Given the description of an element on the screen output the (x, y) to click on. 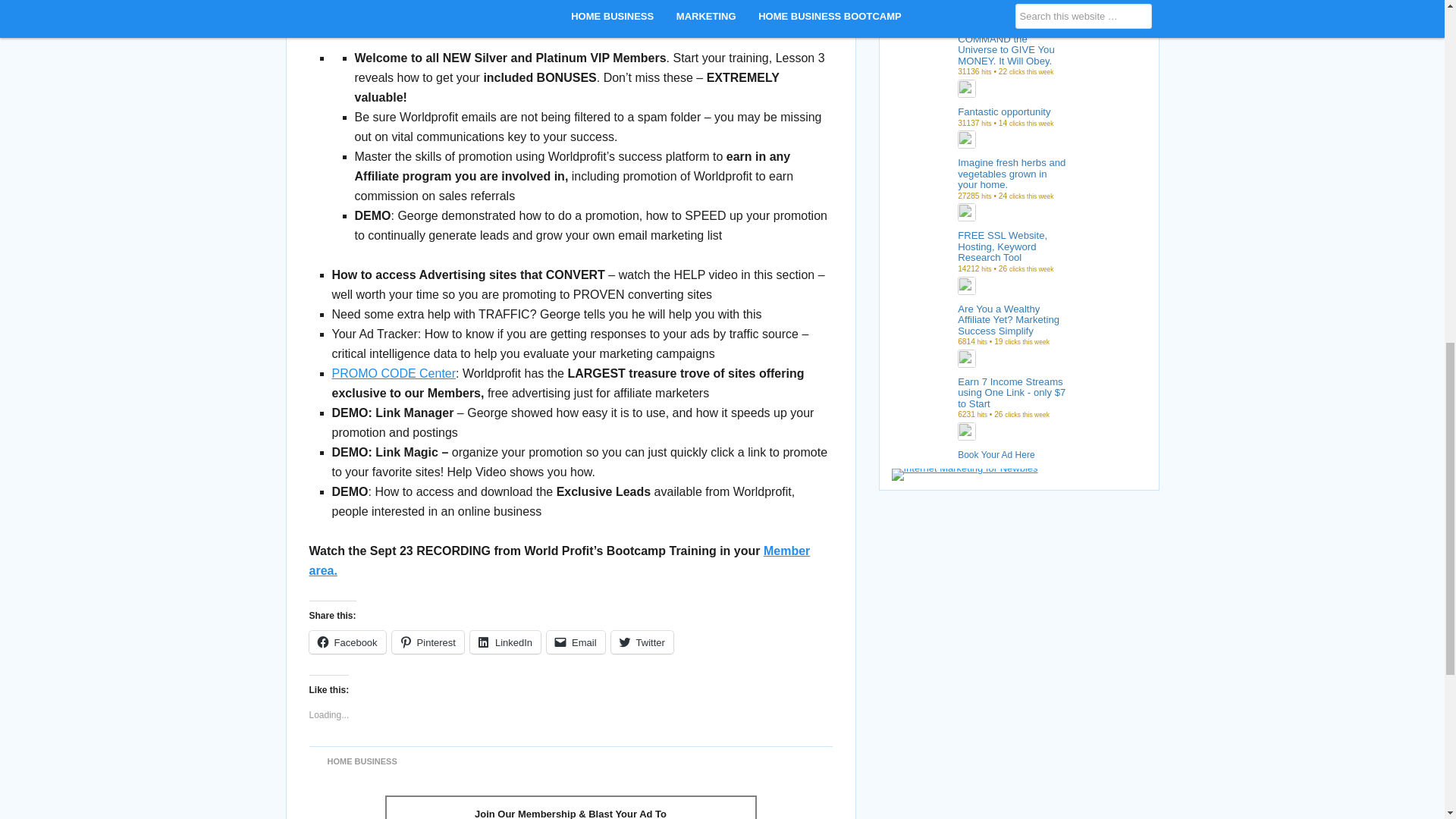
LinkedIn (505, 641)
Pinterest (427, 641)
Member area. (559, 560)
Click to share on Twitter (641, 641)
Twitter (641, 641)
Click to share on LinkedIn (505, 641)
Click to share on Pinterest (427, 641)
Click to email a link to a friend (576, 641)
Email (576, 641)
HOME BUSINESS (362, 760)
Facebook (346, 641)
PROMO CODE Center (394, 373)
Click to share on Facebook (346, 641)
